Given the description of an element on the screen output the (x, y) to click on. 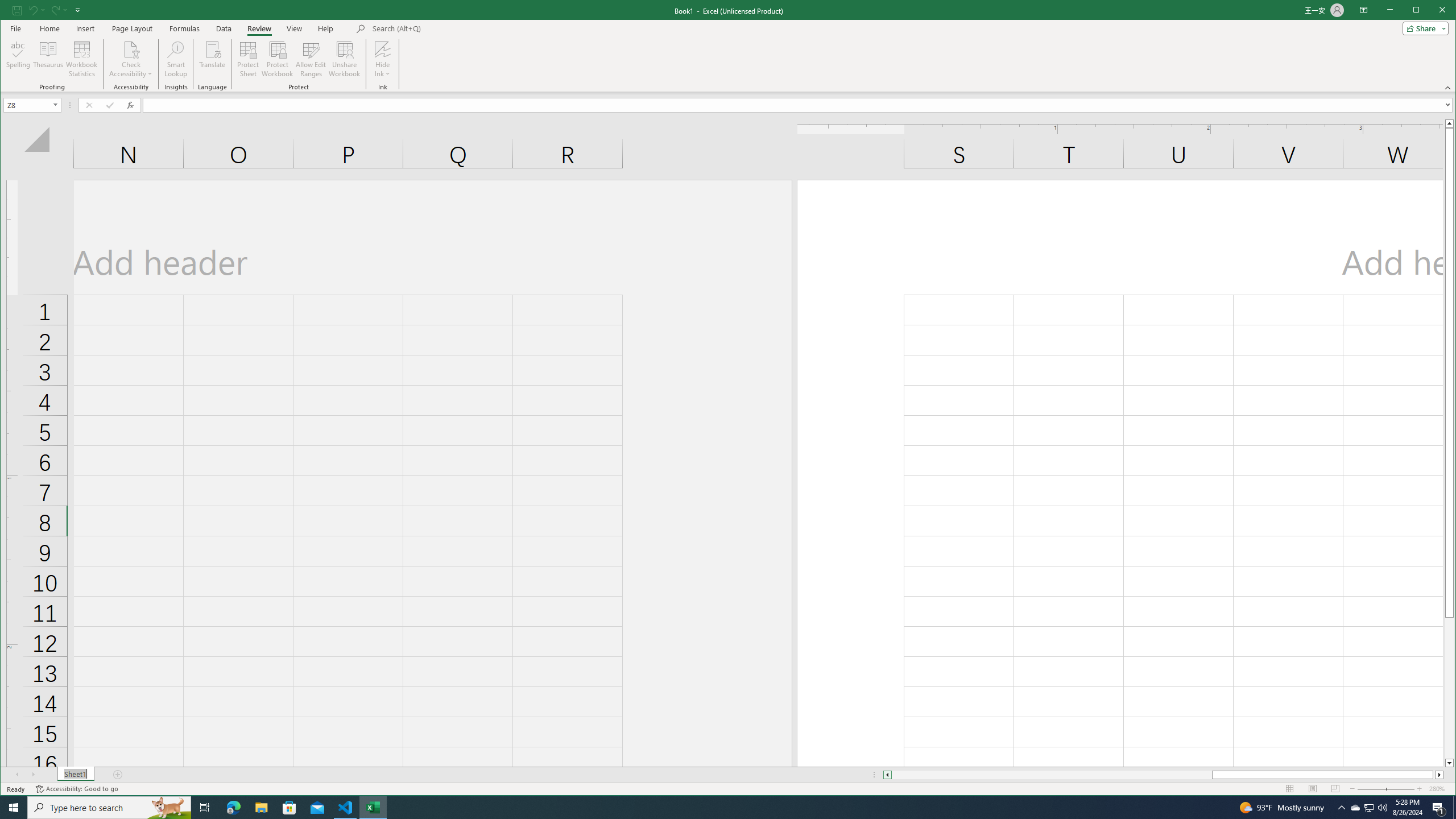
Smart Lookup (176, 59)
Show desktop (1355, 807)
Running applications (1454, 807)
Microsoft Store (717, 807)
